Given the description of an element on the screen output the (x, y) to click on. 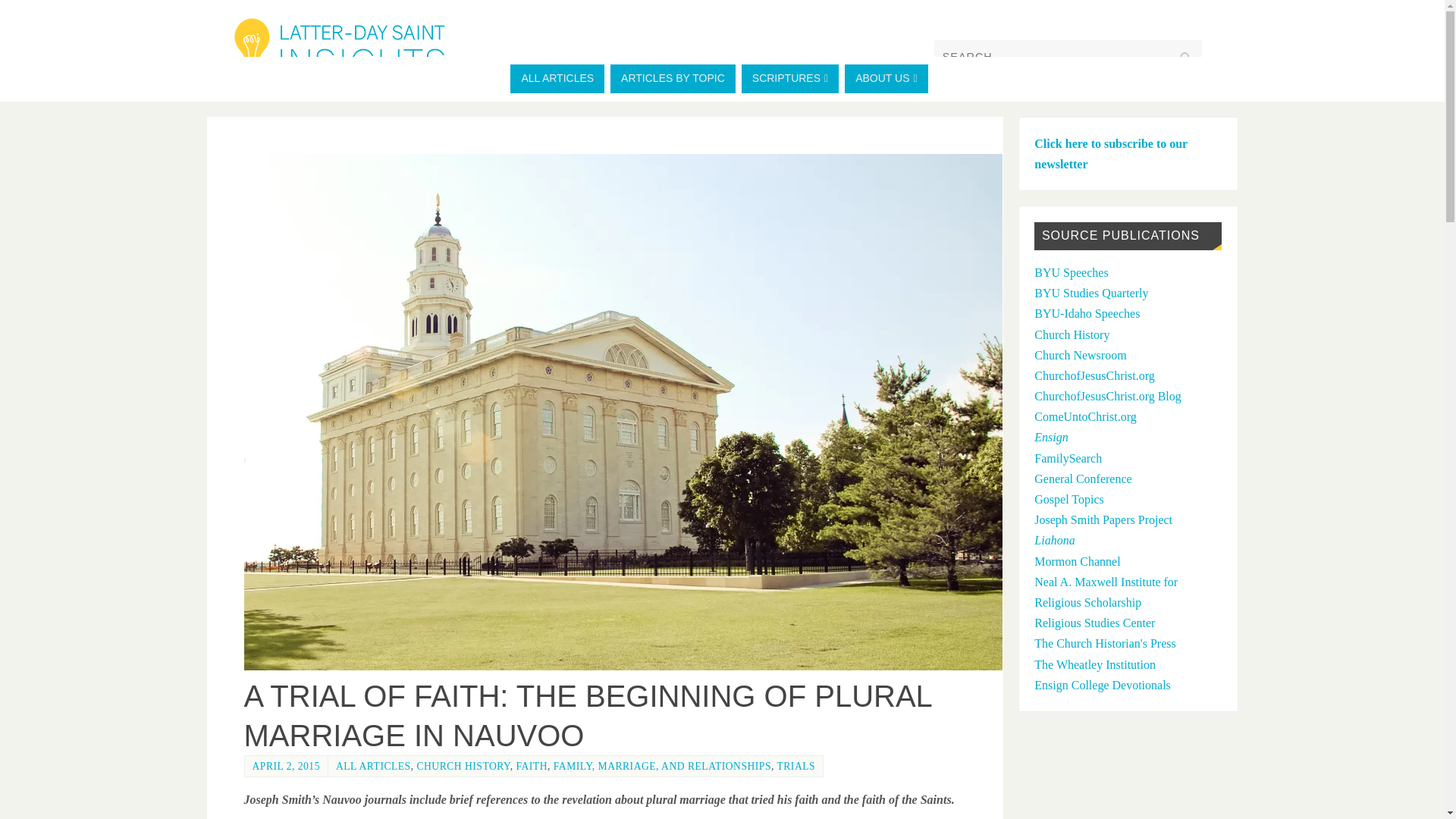
ALL ARTICLES (557, 78)
Latter-day Saint Insights (721, 45)
ARTICLES BY TOPIC (672, 78)
Latter-day Saint Insights (338, 51)
ABOUT US (885, 78)
FAMILY, MARRIAGE, AND RELATIONSHIPS (662, 766)
SCRIPTURES (789, 78)
CHURCH HISTORY (462, 766)
APRIL 2, 2015 (284, 766)
TRIALS (795, 766)
A Trial of Faith: The Beginning of Plural Marriage in Nauvoo (632, 666)
ALL ARTICLES (373, 766)
FAITH (531, 766)
